Given the description of an element on the screen output the (x, y) to click on. 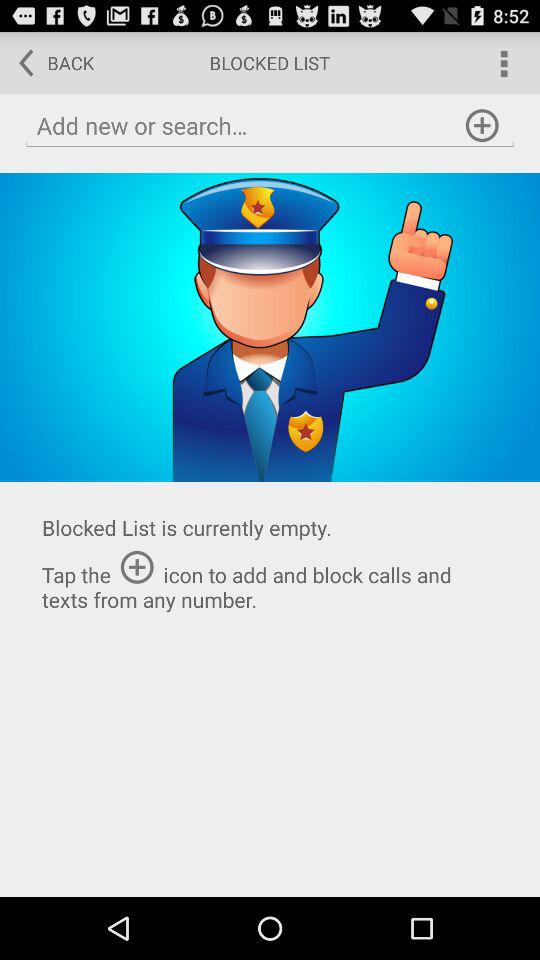
main menu (502, 62)
